Given the description of an element on the screen output the (x, y) to click on. 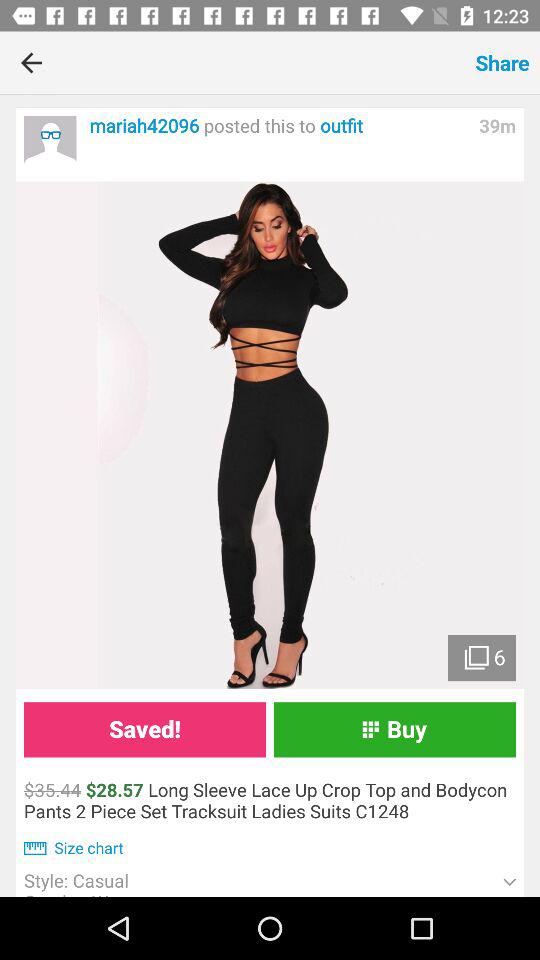
click the mariah42096 posted this (278, 126)
